Given the description of an element on the screen output the (x, y) to click on. 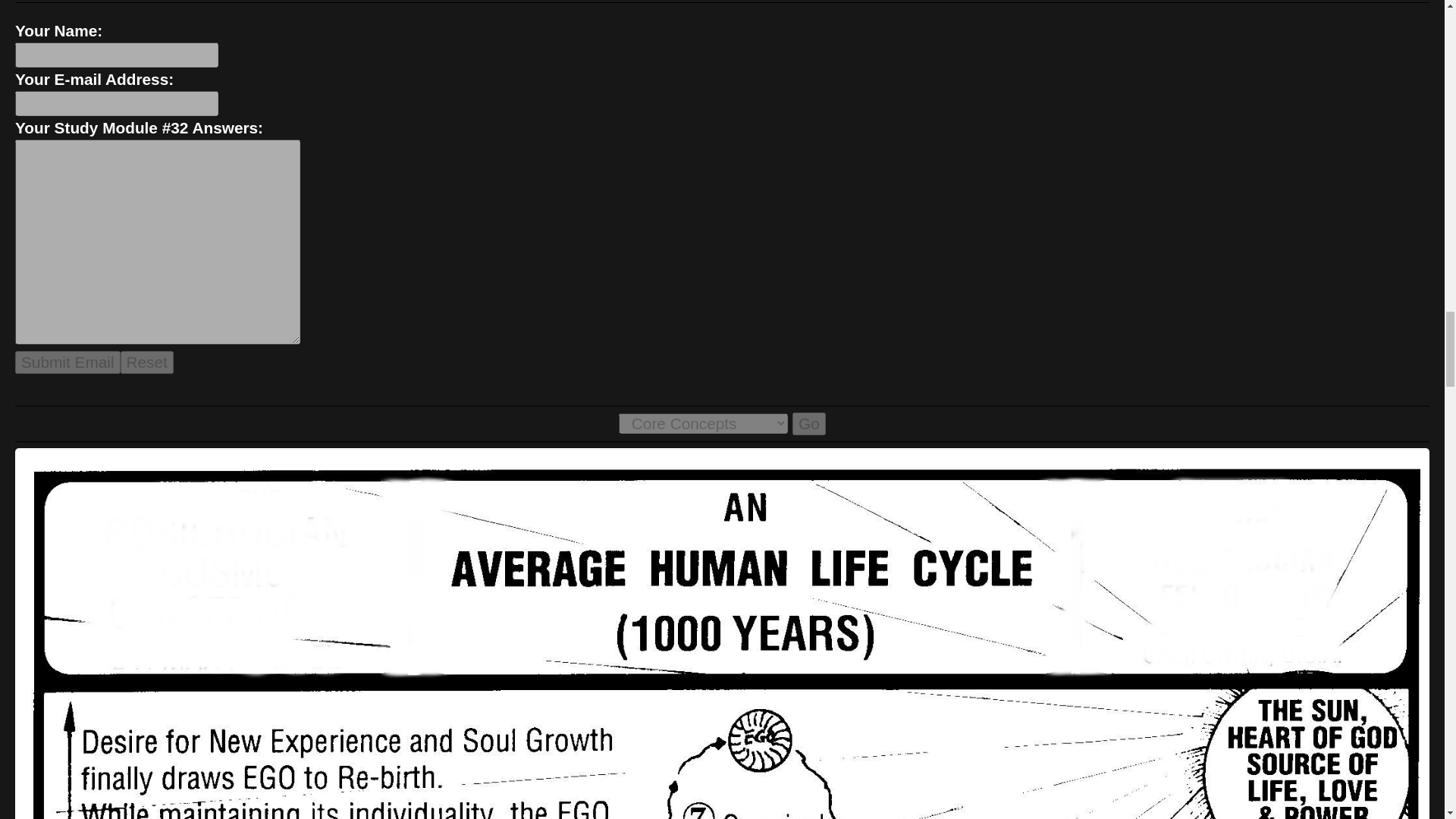
Reset (146, 362)
Submit Email (67, 362)
Go (808, 423)
Submit Email (67, 362)
